Given the description of an element on the screen output the (x, y) to click on. 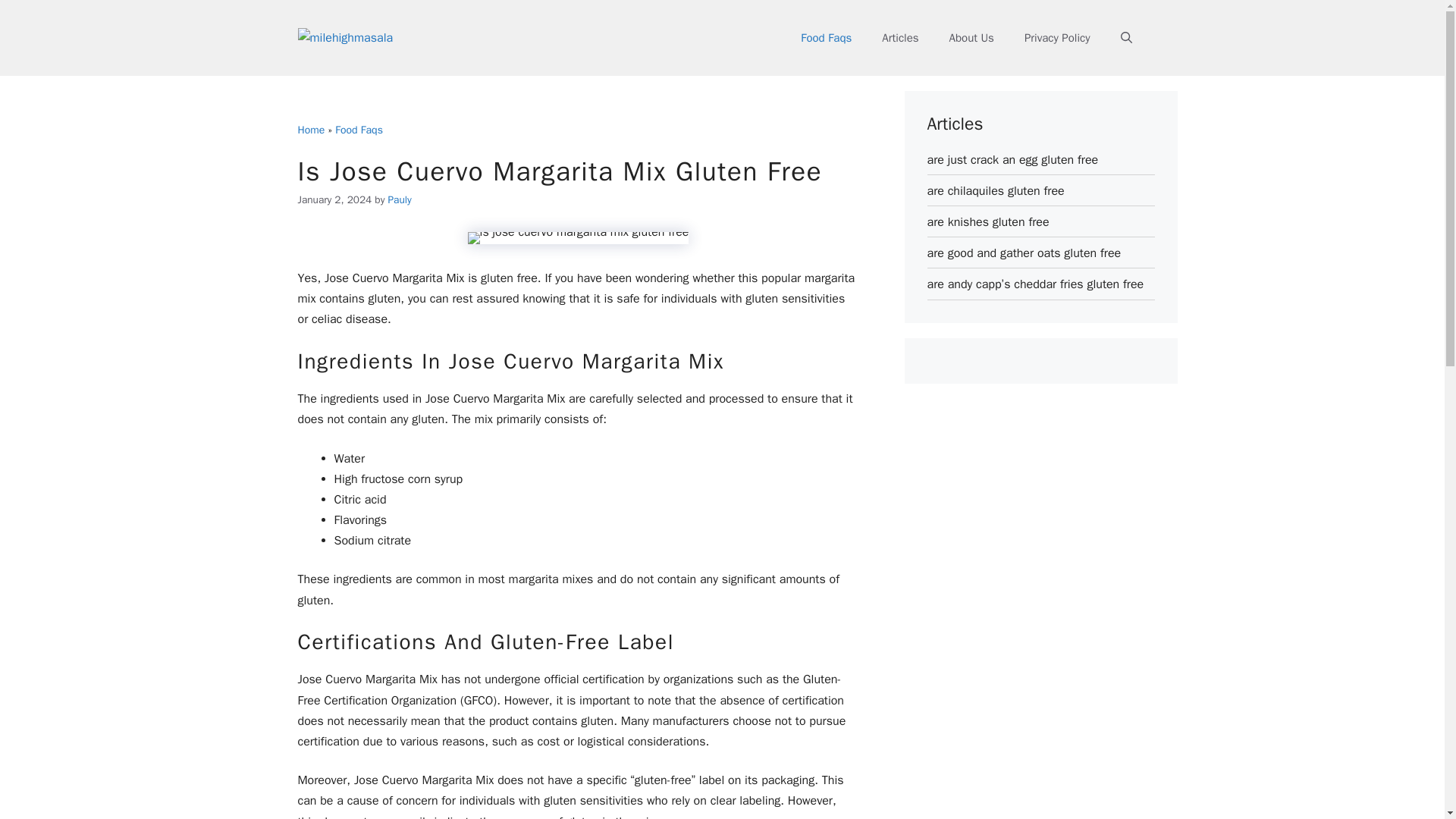
are knishes gluten free (987, 222)
Articles (899, 37)
Food Faqs (358, 129)
Privacy Policy (1057, 37)
are chilaquiles gluten free (995, 191)
About Us (971, 37)
Food Faqs (826, 37)
Pauly (398, 199)
are just crack an egg gluten free (1011, 159)
Home (310, 129)
View all posts by Pauly (398, 199)
is jose cuervo margarita mix gluten free 1 (577, 237)
are good and gather oats gluten free (1023, 253)
